Given the description of an element on the screen output the (x, y) to click on. 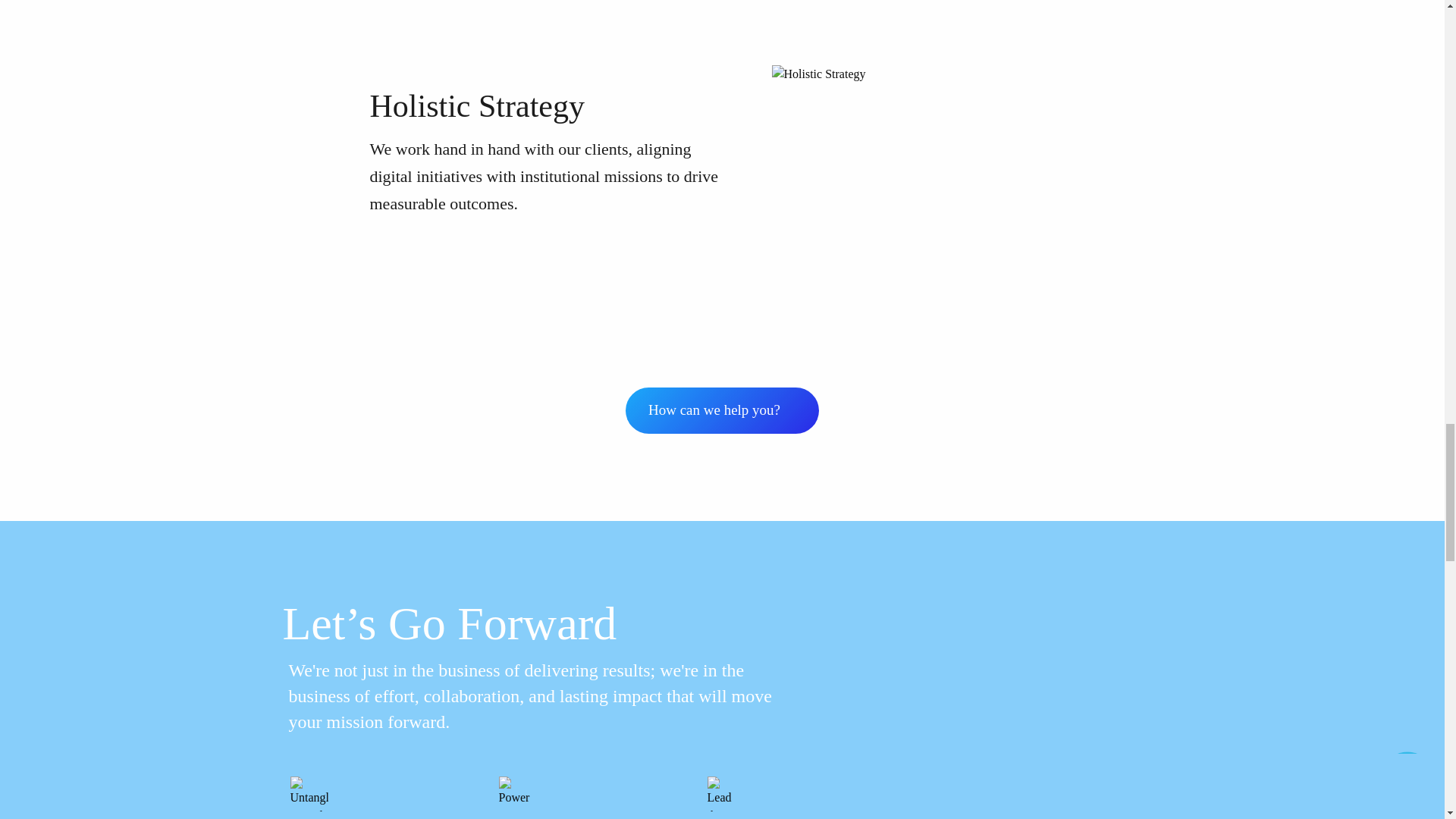
Untangle Complexity (308, 793)
Power Your Vision (516, 793)
How can we help you? (722, 410)
Quality and Compliance (520, 13)
Holistic Strategy (923, 186)
Lead the Way (724, 793)
